Given the description of an element on the screen output the (x, y) to click on. 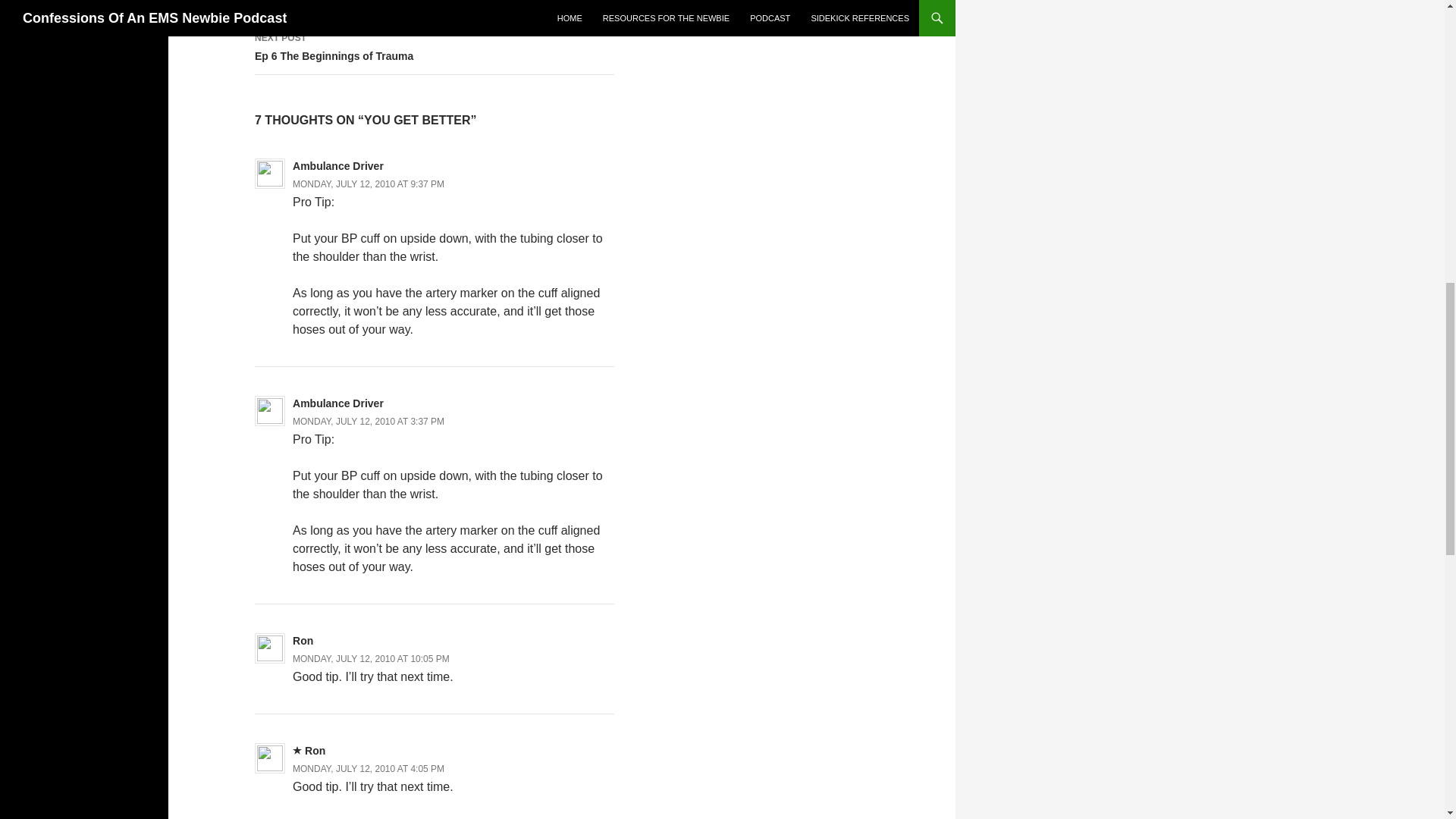
Ambulance Driver (338, 165)
MONDAY, JULY 12, 2010 AT 9:37 PM (434, 10)
MONDAY, JULY 12, 2010 AT 10:05 PM (434, 47)
MONDAY, JULY 12, 2010 AT 4:05 PM (368, 184)
MONDAY, JULY 12, 2010 AT 3:37 PM (370, 658)
Ambulance Driver (368, 768)
